Given the description of an element on the screen output the (x, y) to click on. 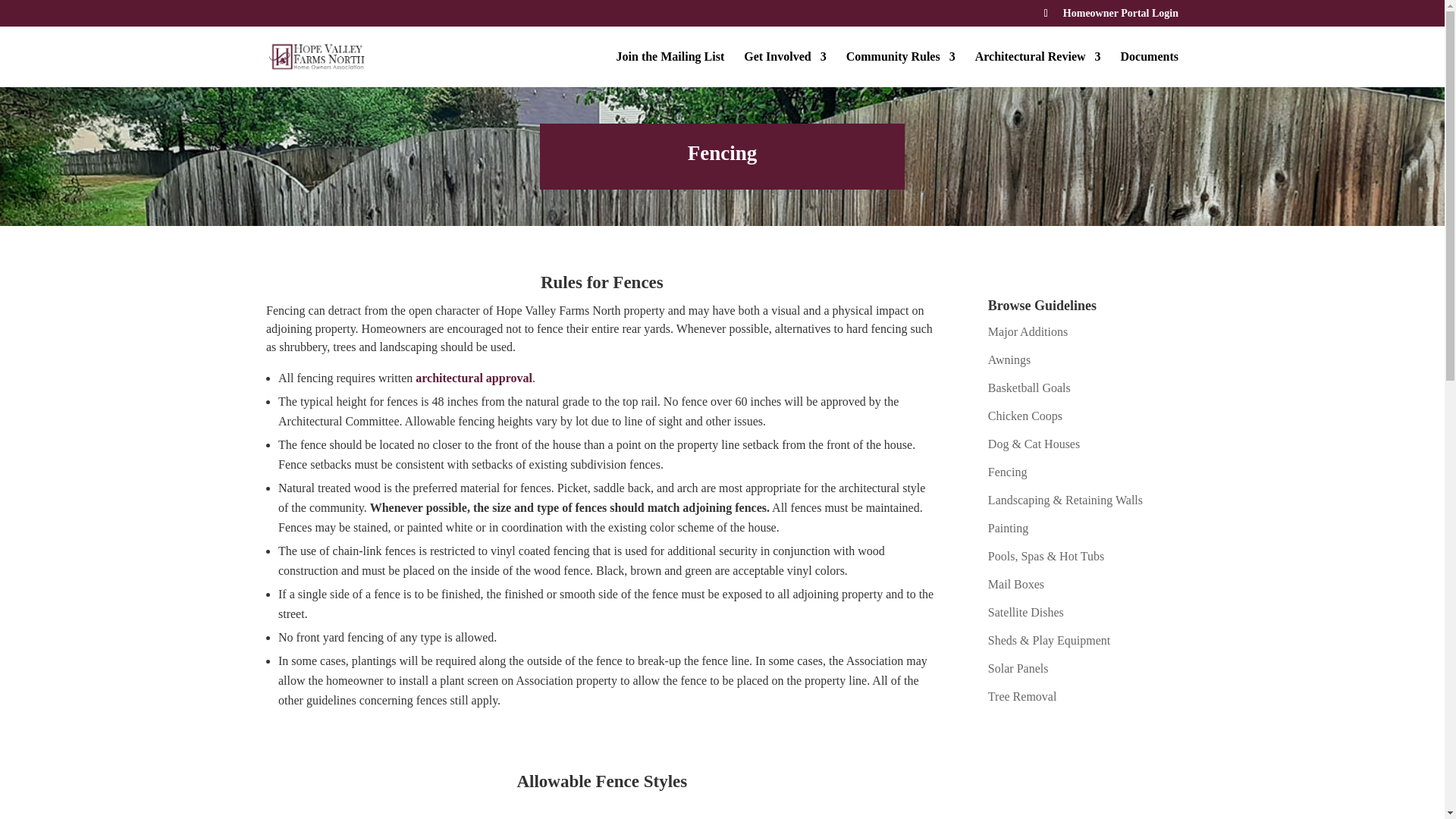
Community Rules (900, 68)
architectural approval (473, 377)
Get Involved (784, 68)
Documents (1149, 68)
Major Additions (1027, 331)
Join the Mailing List (670, 68)
Architectural Review (1037, 68)
Homeowner Portal Login (1119, 16)
Awnings (1009, 359)
